Given the description of an element on the screen output the (x, y) to click on. 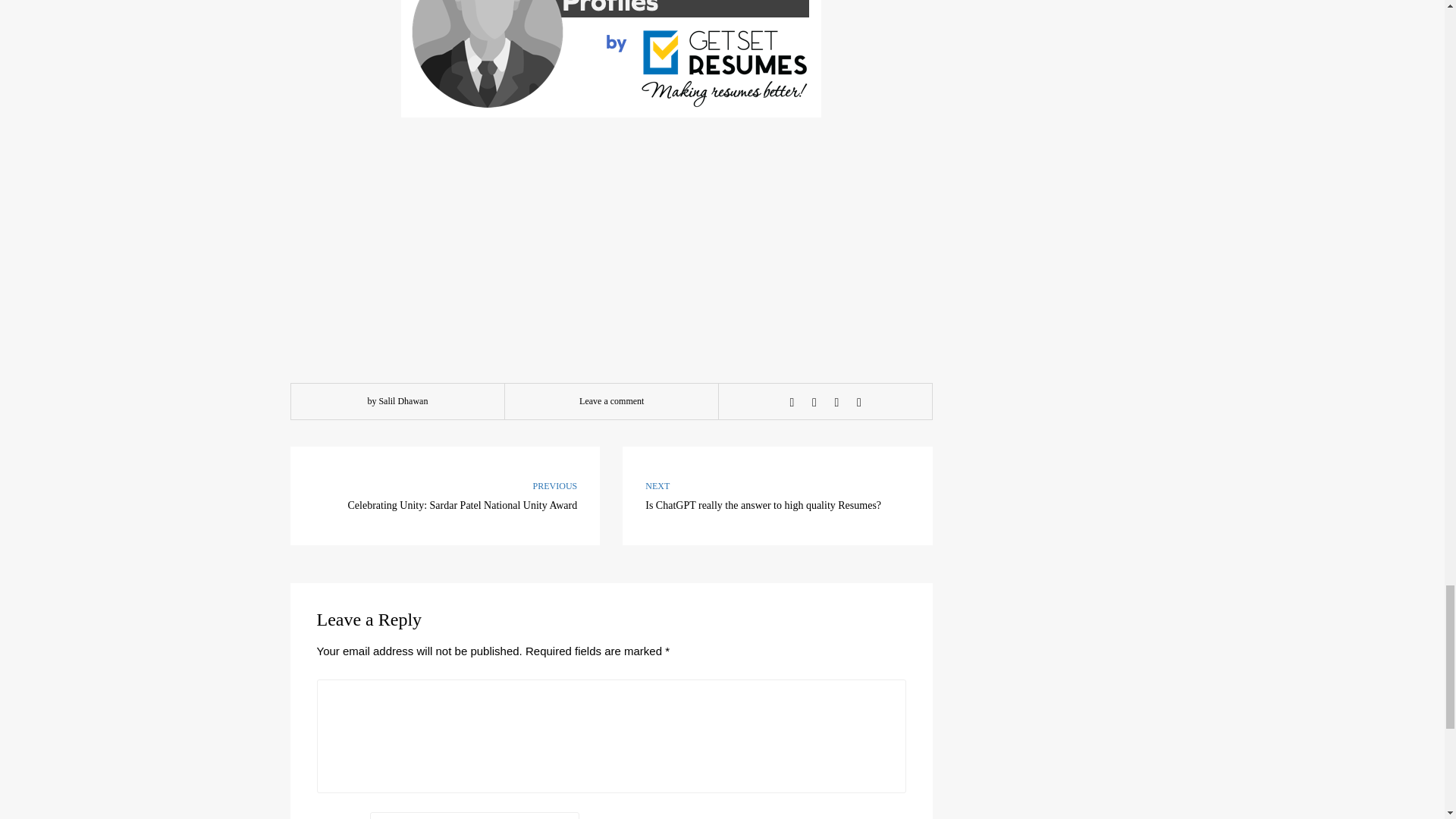
Tweet this (814, 402)
Share this (791, 402)
Leave a comment (611, 400)
Share with Google Plus (836, 402)
Pin this (778, 495)
